Given the description of an element on the screen output the (x, y) to click on. 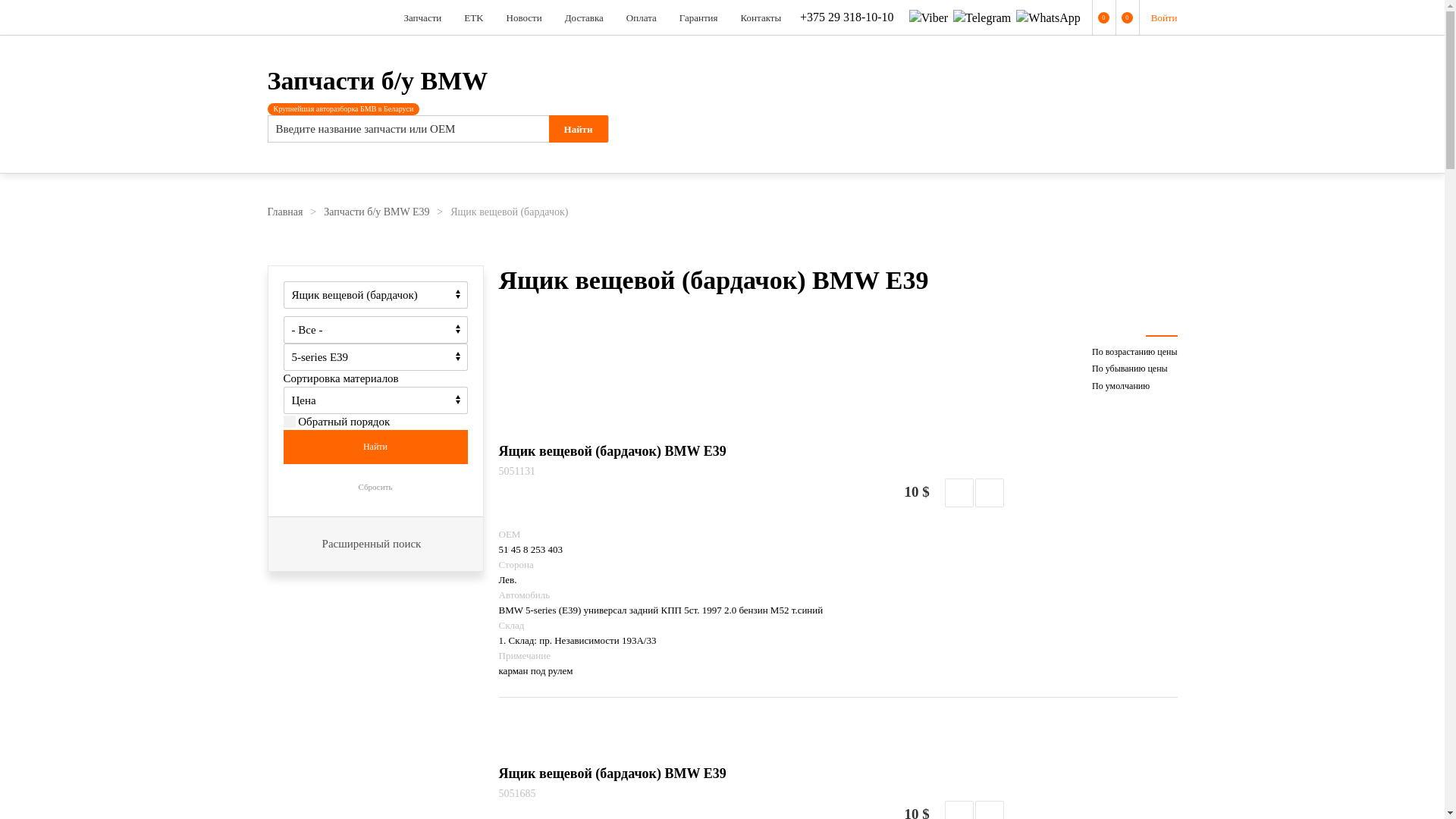
+375 29 318-10-10 Element type: text (845, 17)
Viber Element type: hover (928, 17)
WhatsApp Element type: hover (1047, 17)
Telegram Element type: hover (981, 17)
ETK Element type: text (473, 17)
